Given the description of an element on the screen output the (x, y) to click on. 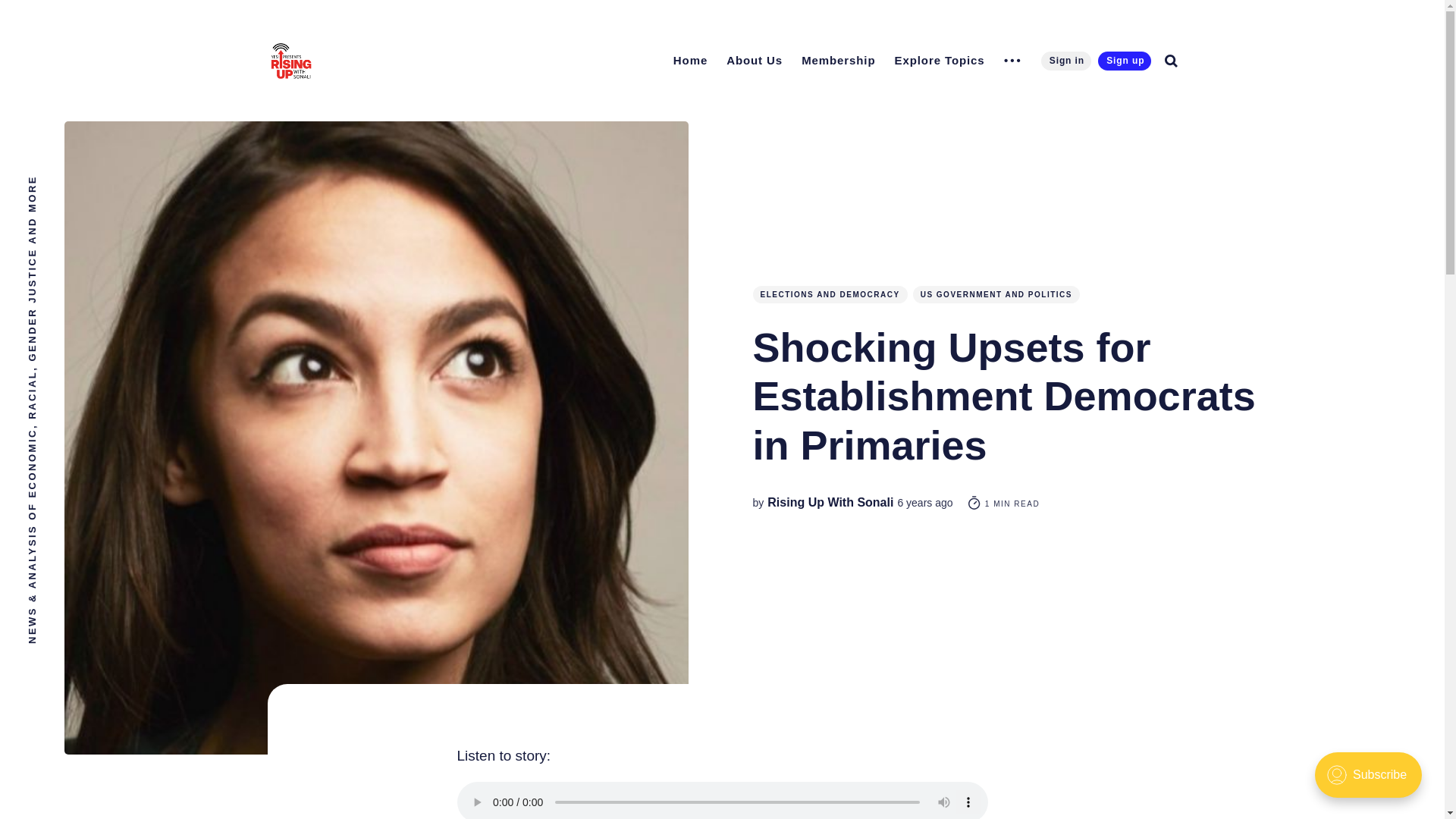
Home (689, 60)
Membership (837, 60)
Sign in (1065, 60)
About Us (754, 60)
Rising Up With Sonali (830, 502)
ELECTIONS AND DEMOCRACY (829, 294)
Explore Topics (939, 60)
Sign up (1124, 60)
US GOVERNMENT AND POLITICS (996, 294)
